Given the description of an element on the screen output the (x, y) to click on. 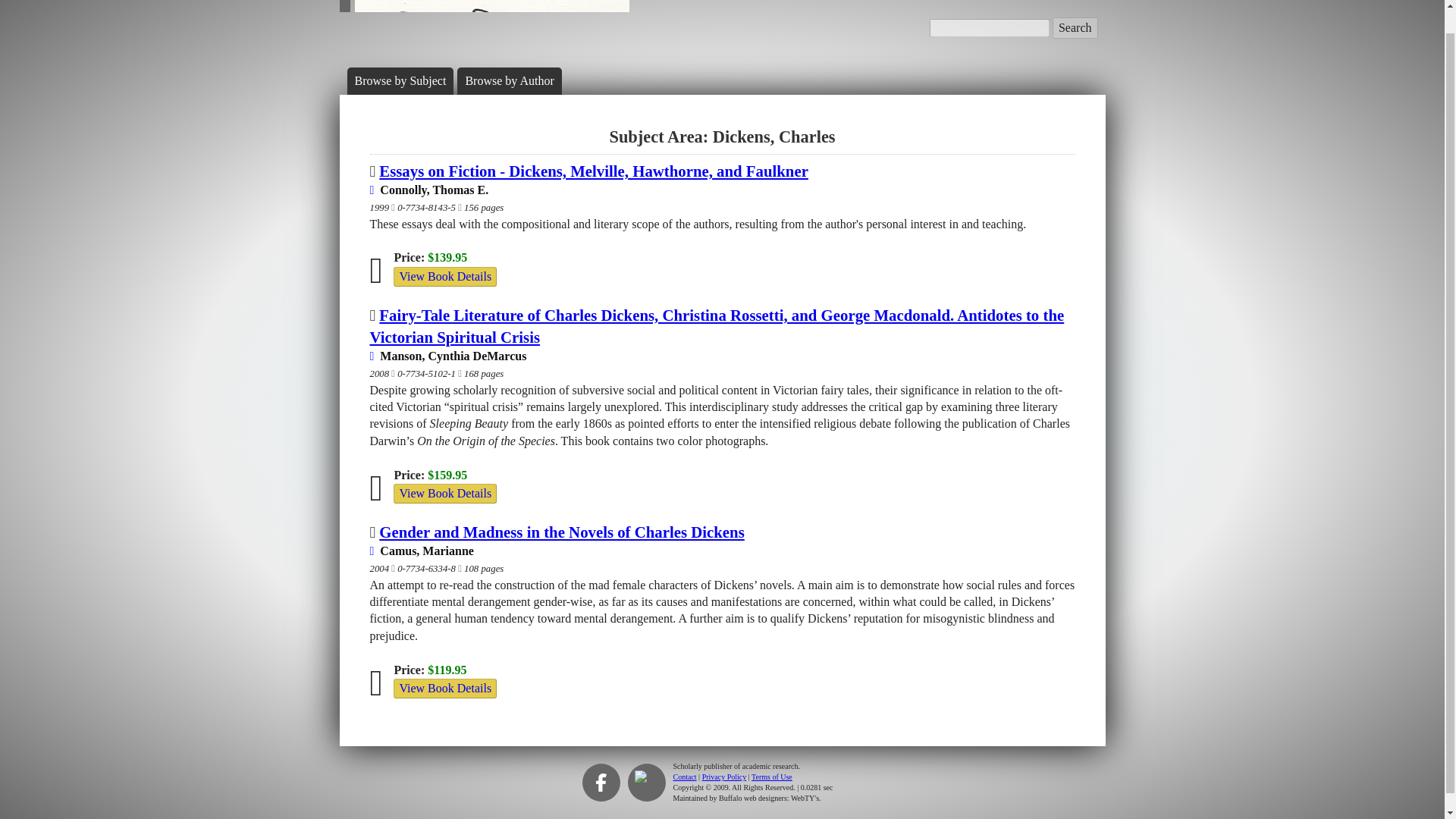
Browse by Author (508, 80)
View Book Details (444, 276)
 Connolly, Thomas E. (429, 189)
Browse by Subject (400, 80)
Gender and Madness in the Novels of Charles Dickens (561, 531)
Search (1074, 27)
View Book Details (444, 493)
View Book Details (444, 276)
 Manson, Cynthia DeMarcus (448, 355)
